Given the description of an element on the screen output the (x, y) to click on. 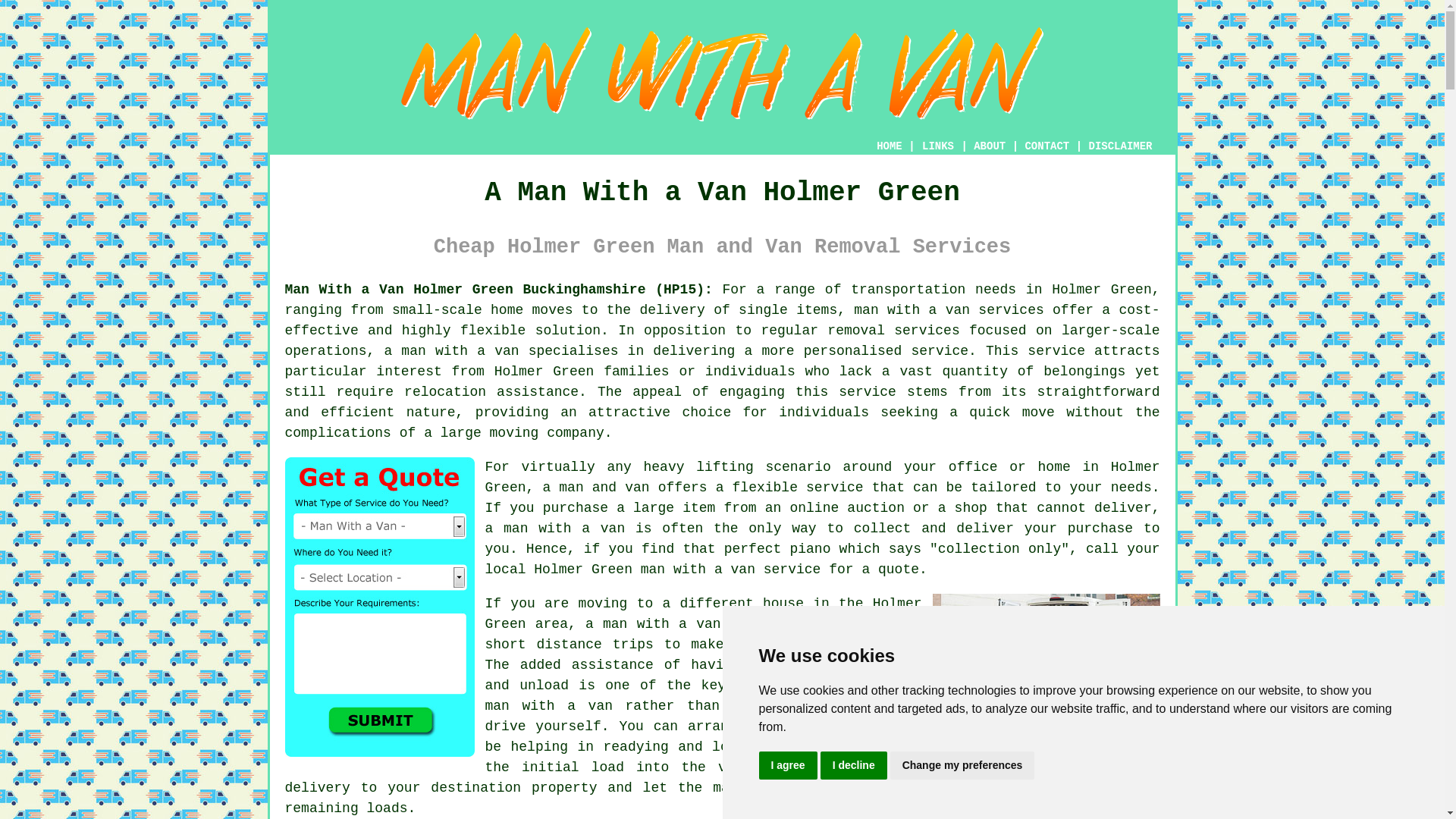
HOME (889, 146)
Change my preferences (962, 765)
man with a van services (948, 309)
Man With a Van Holmer Green Buckinghamshire (1046, 667)
I agree (787, 765)
LINKS (938, 146)
I decline (853, 765)
a man with a van service (686, 623)
man and van (604, 487)
A Man With a Van Holmer Green (722, 74)
